Given the description of an element on the screen output the (x, y) to click on. 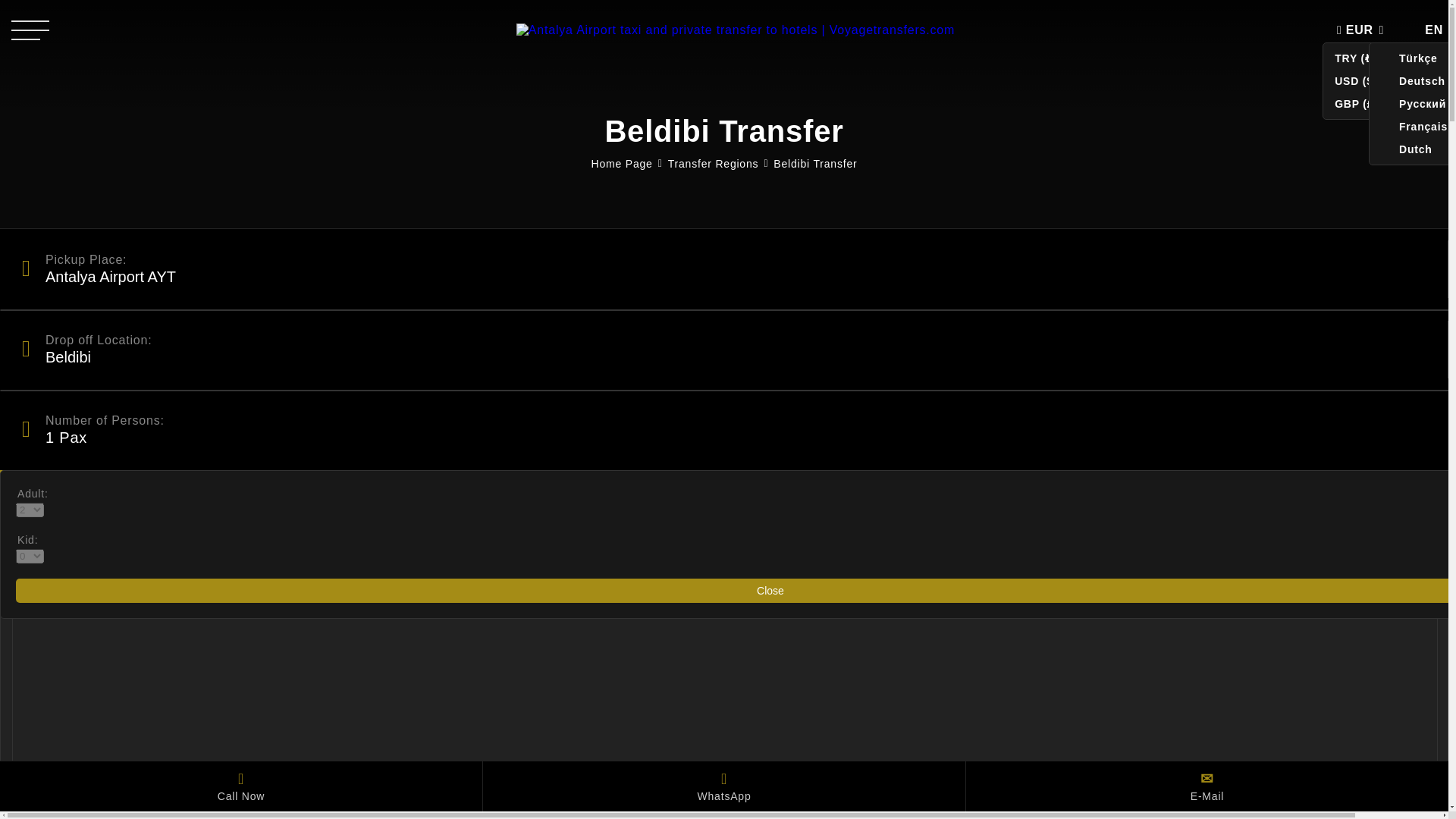
Beldibi (728, 349)
Dutch (1413, 149)
Beldibi Transfer (815, 163)
Transfer Regions (713, 163)
Beldibi (728, 349)
Antalya Airport AYT (728, 269)
EN (1430, 30)
Search Transfer (724, 488)
Close (736, 590)
EUR (1363, 30)
Home Page (621, 163)
Deutsch (1413, 80)
Antalya Airport AYT (728, 269)
